Given the description of an element on the screen output the (x, y) to click on. 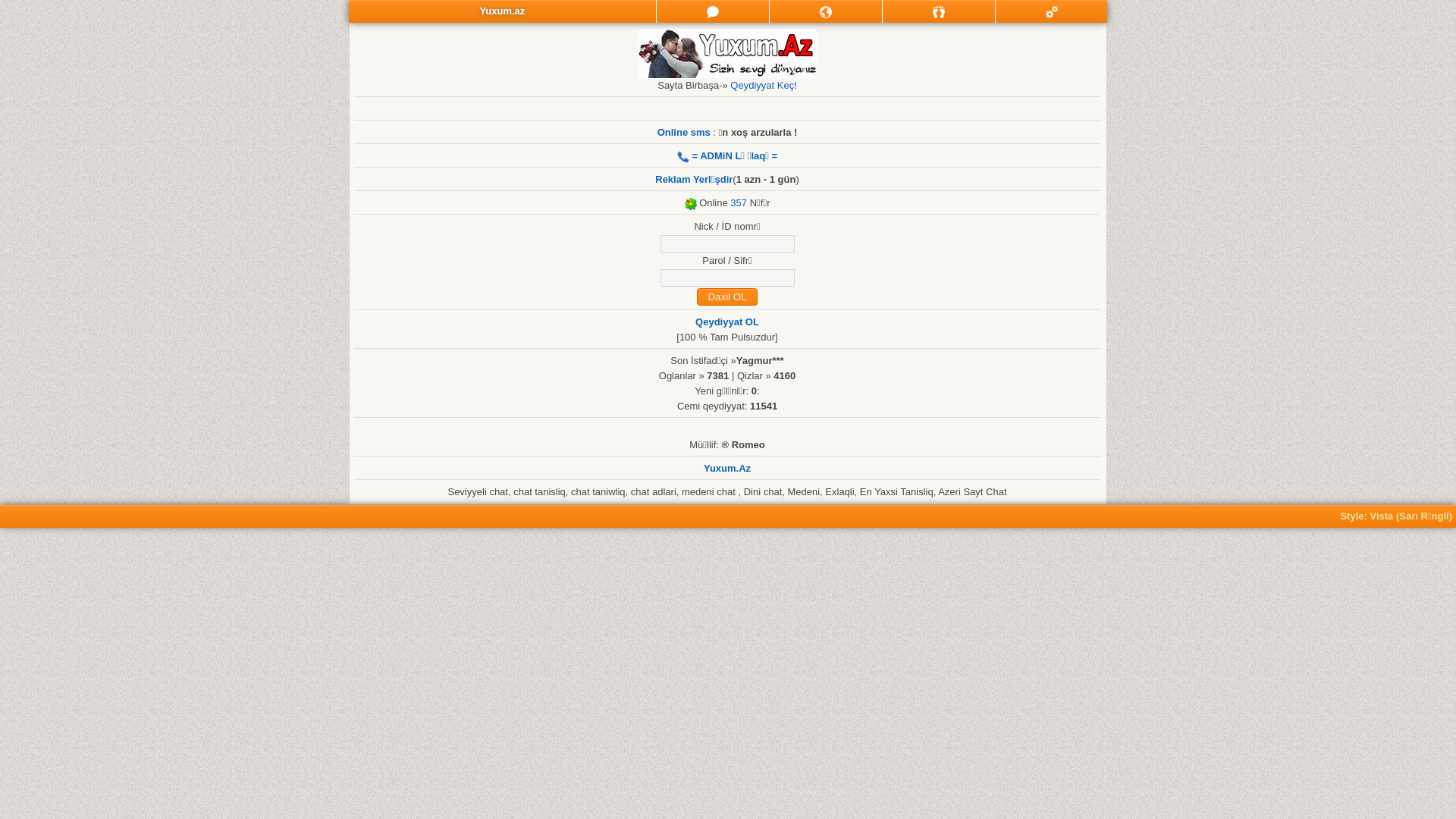
Yuxum.Az Element type: text (726, 467)
Online sms Element type: text (683, 132)
Qeydiyyat OL Element type: text (727, 321)
Parol Element type: hover (726, 277)
Register Element type: hover (1051, 11)
Daxil OL Element type: text (726, 296)
Bildirisler Element type: hover (825, 11)
357 Element type: text (738, 202)
Yuxum.az Element type: text (501, 11)
Mesajlar Element type: hover (712, 11)
nick Element type: hover (726, 243)
Qonaqlar Element type: hover (938, 11)
